Given the description of an element on the screen output the (x, y) to click on. 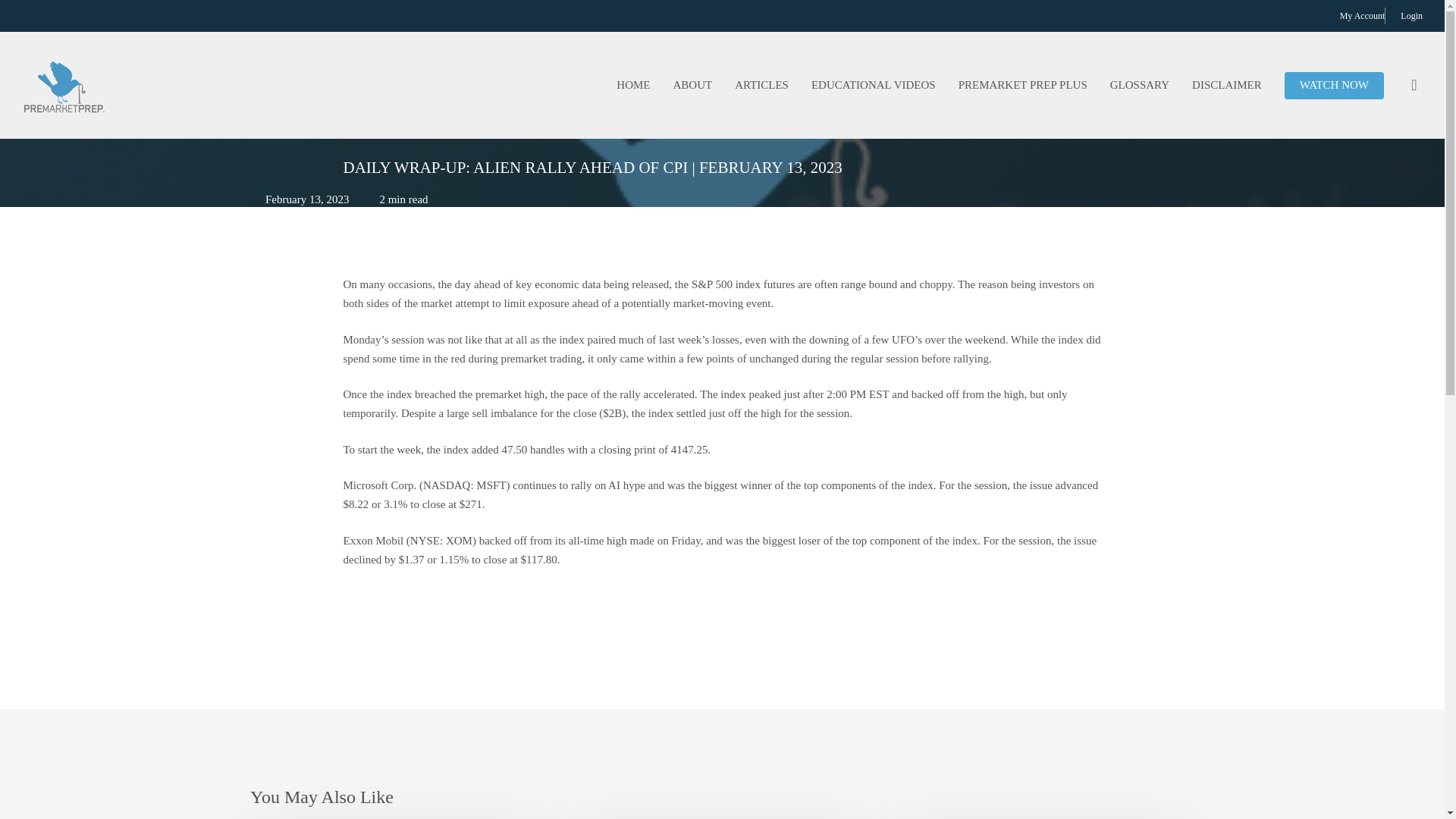
ARTICLES (761, 85)
WATCH NOW (1334, 85)
HOME (633, 85)
PREMARKET PREP PLUS (1023, 85)
GLOSSARY (1139, 85)
Login (1411, 15)
My Account (1362, 15)
EDUCATIONAL VIDEOS (873, 85)
DISCLAIMER (1226, 85)
ABOUT (692, 85)
search (1414, 84)
